Given the description of an element on the screen output the (x, y) to click on. 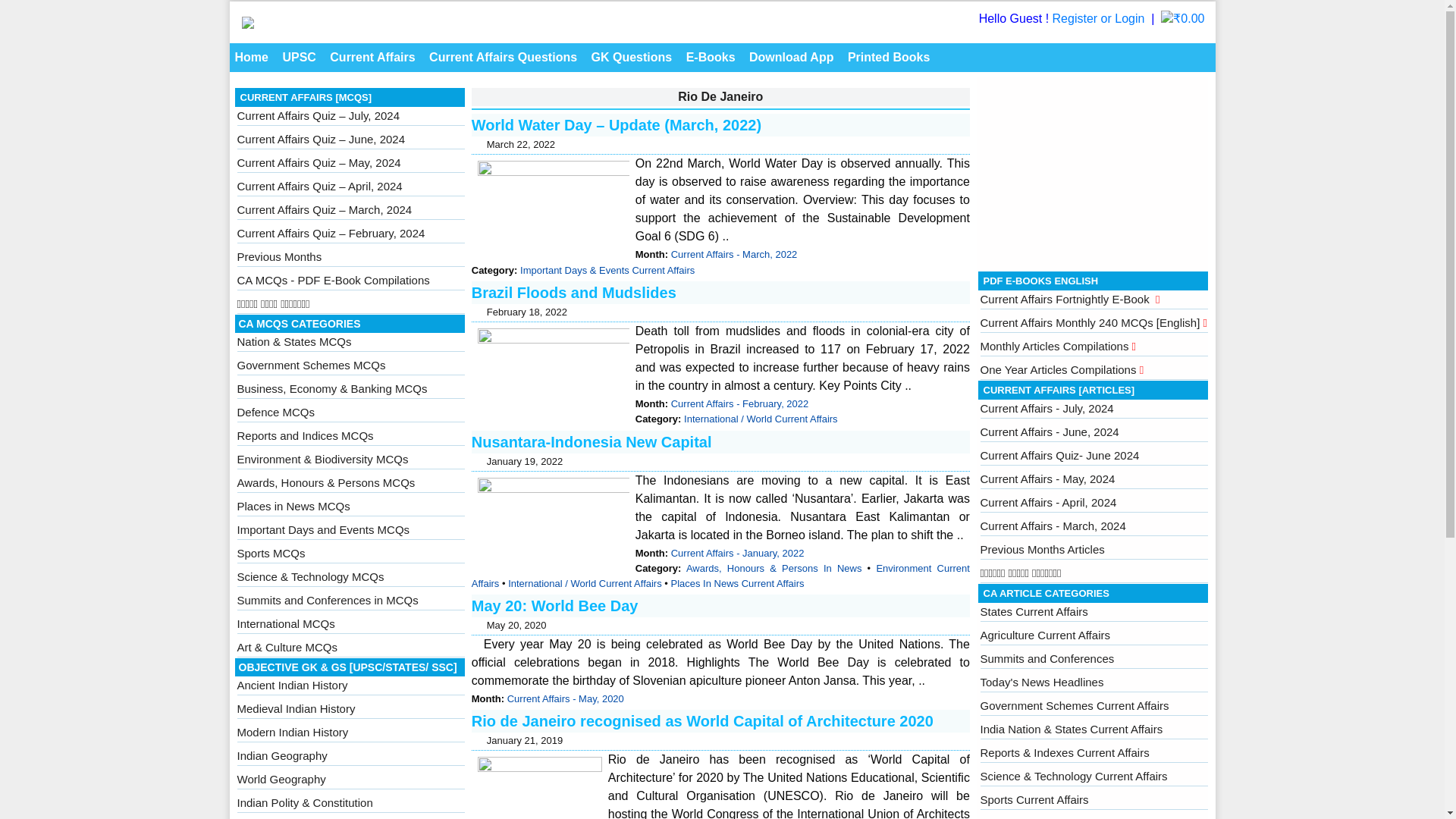
Home (250, 57)
Environment Current Affairs (720, 575)
Current Affairs - January, 2022 (738, 552)
Printed Books (888, 57)
Current Affairs Questions (502, 57)
May 20: World Bee Day (555, 605)
Places In News Current Affairs (736, 583)
Brazil Floods and Mudslides (574, 292)
E-Books (711, 57)
GK Questions (632, 57)
Nusantara-Indonesia New Capital (591, 442)
Current Affairs - May, 2020 (565, 698)
Current Affairs - March, 2022 (734, 254)
